Given the description of an element on the screen output the (x, y) to click on. 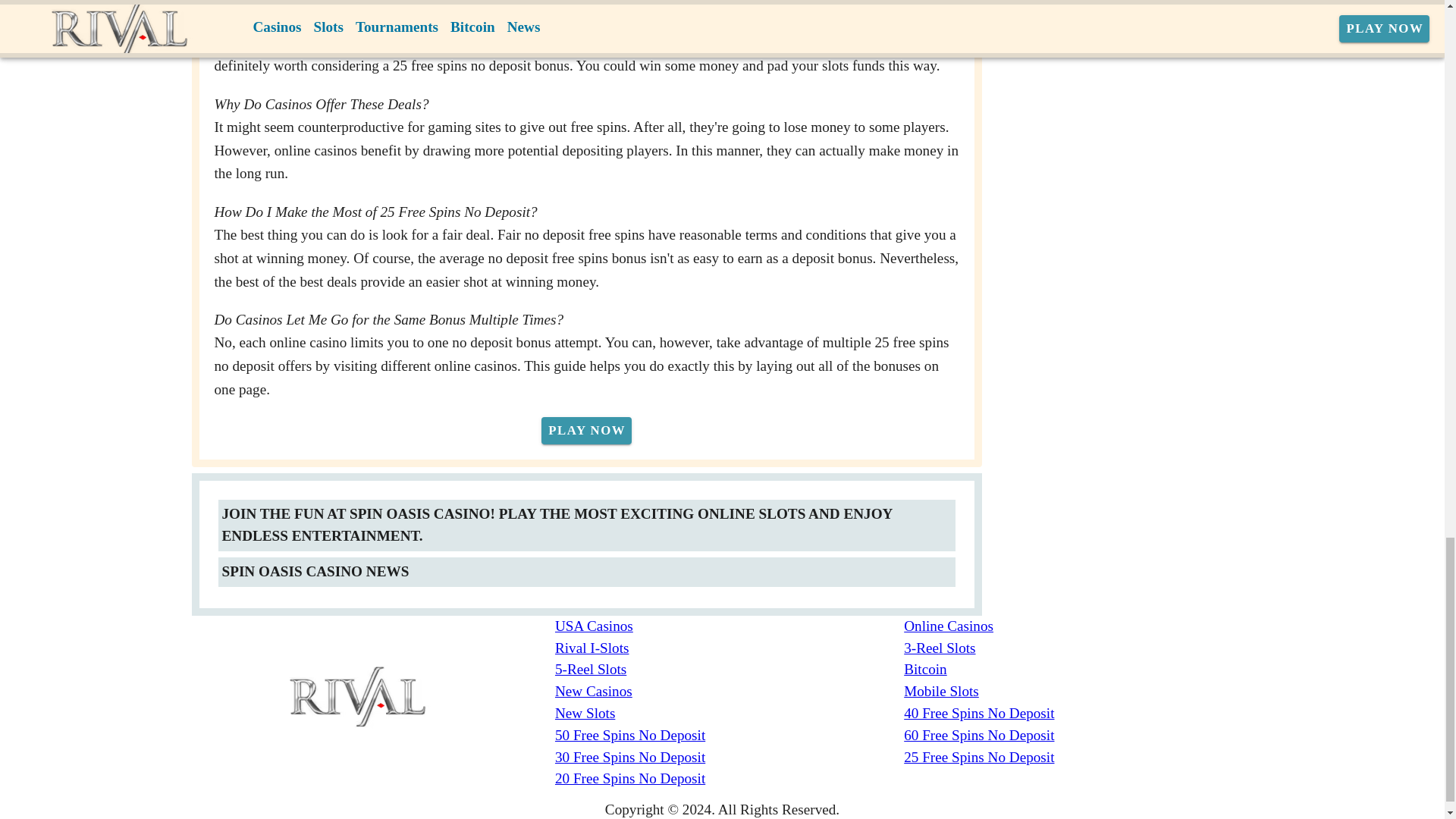
5-Reel Slots (729, 669)
25 Free Spins No Deposit (1078, 757)
30 Free Spins No Deposit (729, 757)
3-Reel Slots (1078, 649)
60 Free Spins No Deposit (1078, 735)
USA Casinos (729, 626)
Mobile Slots (1078, 691)
New Slots (729, 713)
20 Free Spins No Deposit (729, 779)
40 Free Spins No Deposit (1078, 713)
Bitcoin (1078, 669)
Rival I-Slots (729, 649)
50 Free Spins No Deposit (729, 735)
Online Casinos (1078, 626)
PLAY NOW (586, 430)
